Given the description of an element on the screen output the (x, y) to click on. 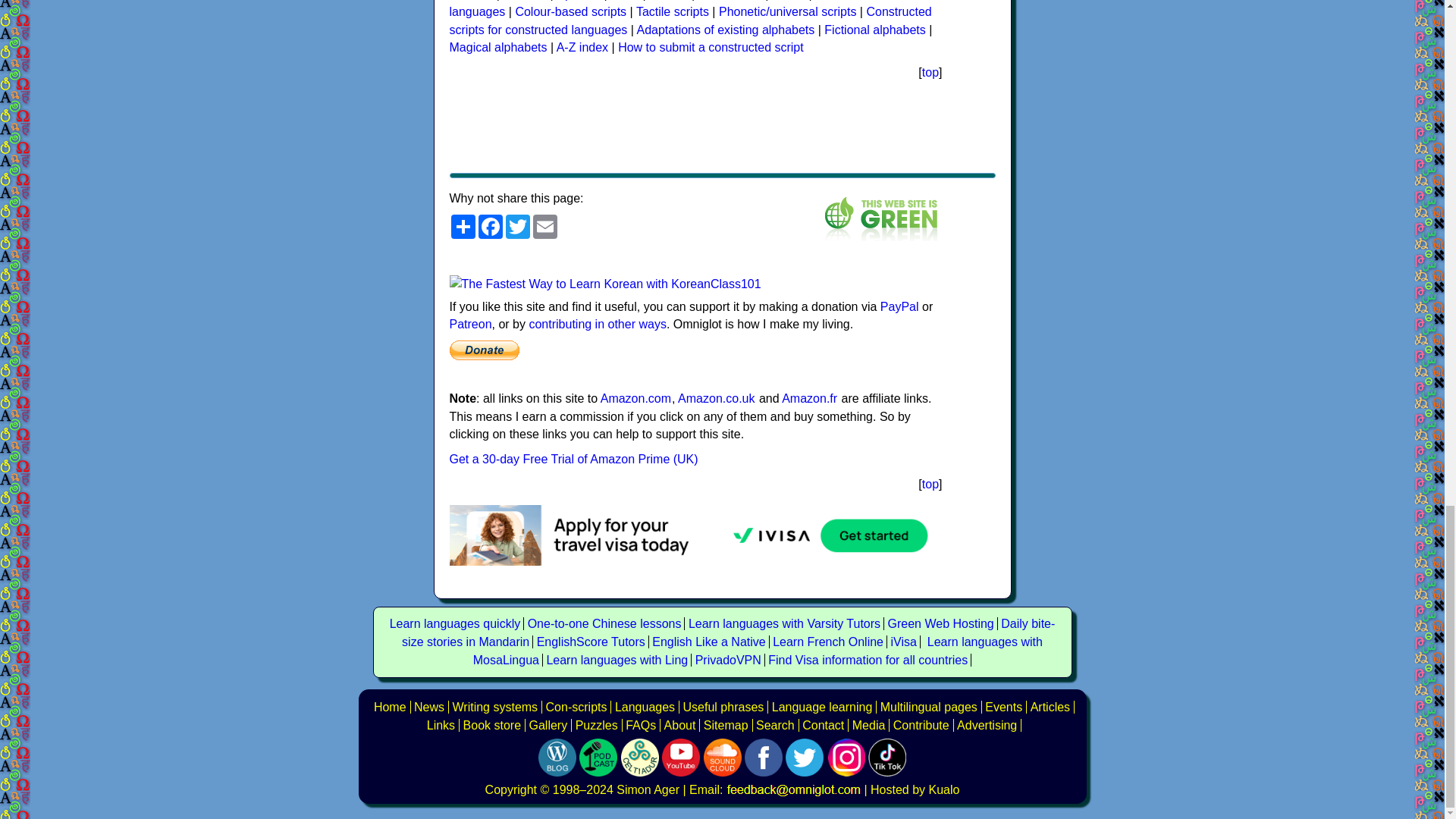
Frequently Asked Questions (641, 724)
Advice on learning languages (821, 706)
Language names in their own scripts and languages (928, 706)
A guide to the contents of Omniglot (679, 724)
A selection of phrases in numerous languages (723, 706)
An index of the languages featured on Omniglot (644, 706)
